Given the description of an element on the screen output the (x, y) to click on. 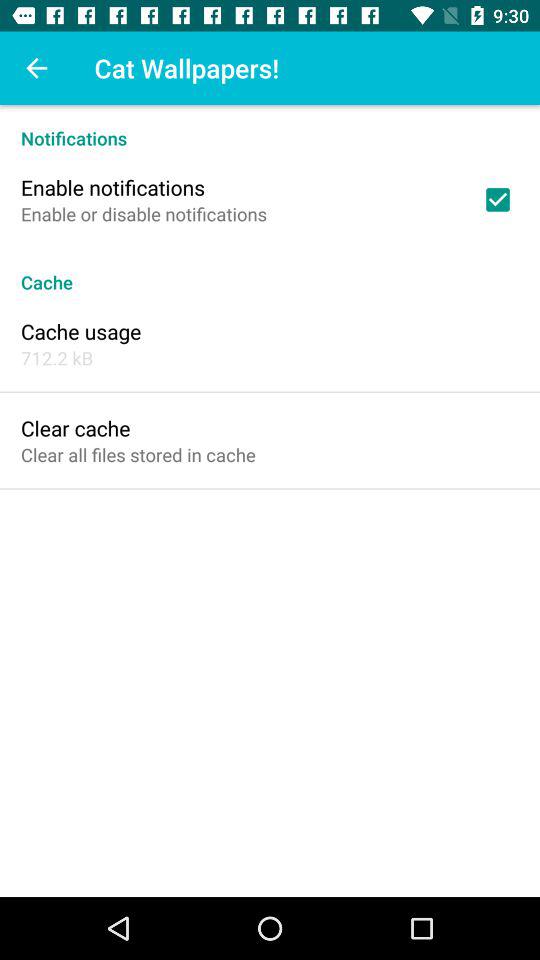
turn on item to the right of enable or disable item (497, 199)
